Given the description of an element on the screen output the (x, y) to click on. 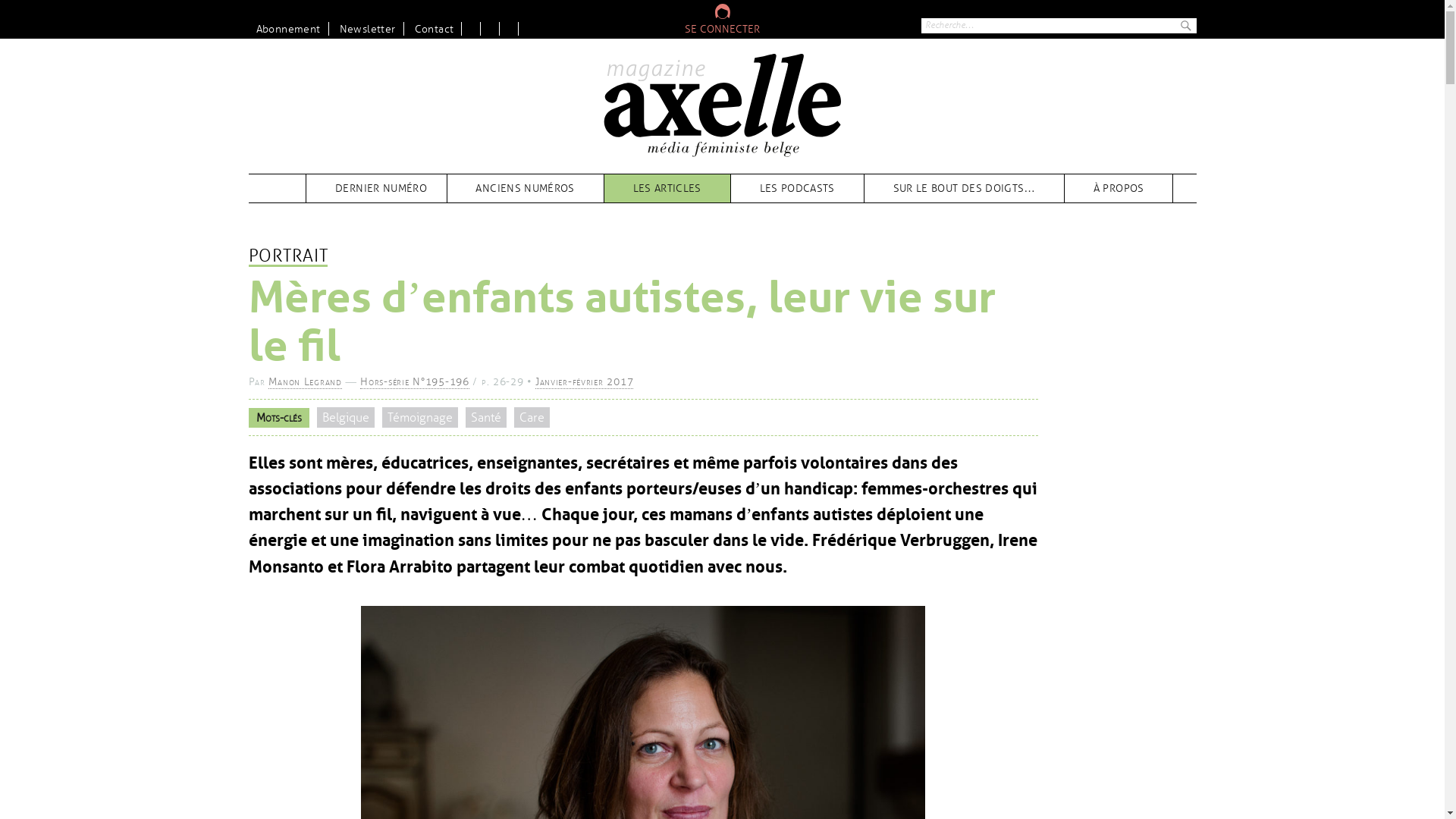
LES ARTICLES Element type: text (667, 188)
RECHERCHE Element type: text (1184, 25)
PORTRAIT Element type: text (288, 256)
Contact Element type: text (433, 28)
Belgique Element type: text (345, 417)
Newsletter Element type: text (368, 28)
LES PODCASTS Element type: text (797, 188)
Manon Legrand Element type: text (304, 381)
Abonnement Element type: text (288, 28)
Care Element type: text (531, 417)
